Given the description of an element on the screen output the (x, y) to click on. 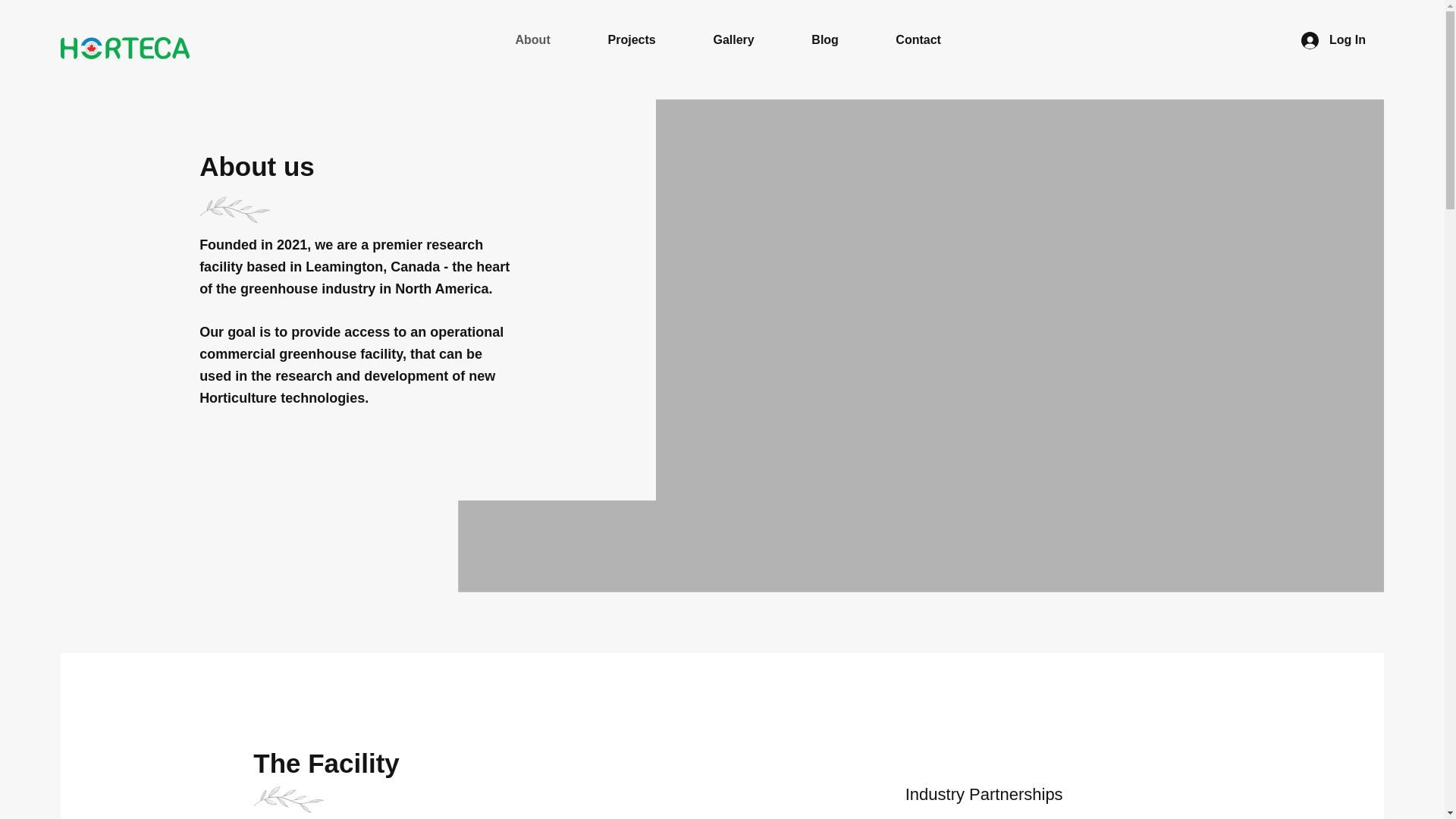
Blog (825, 39)
Log In (1332, 40)
Projects (631, 39)
Contact (918, 39)
Gallery (733, 39)
About (532, 39)
